Given the description of an element on the screen output the (x, y) to click on. 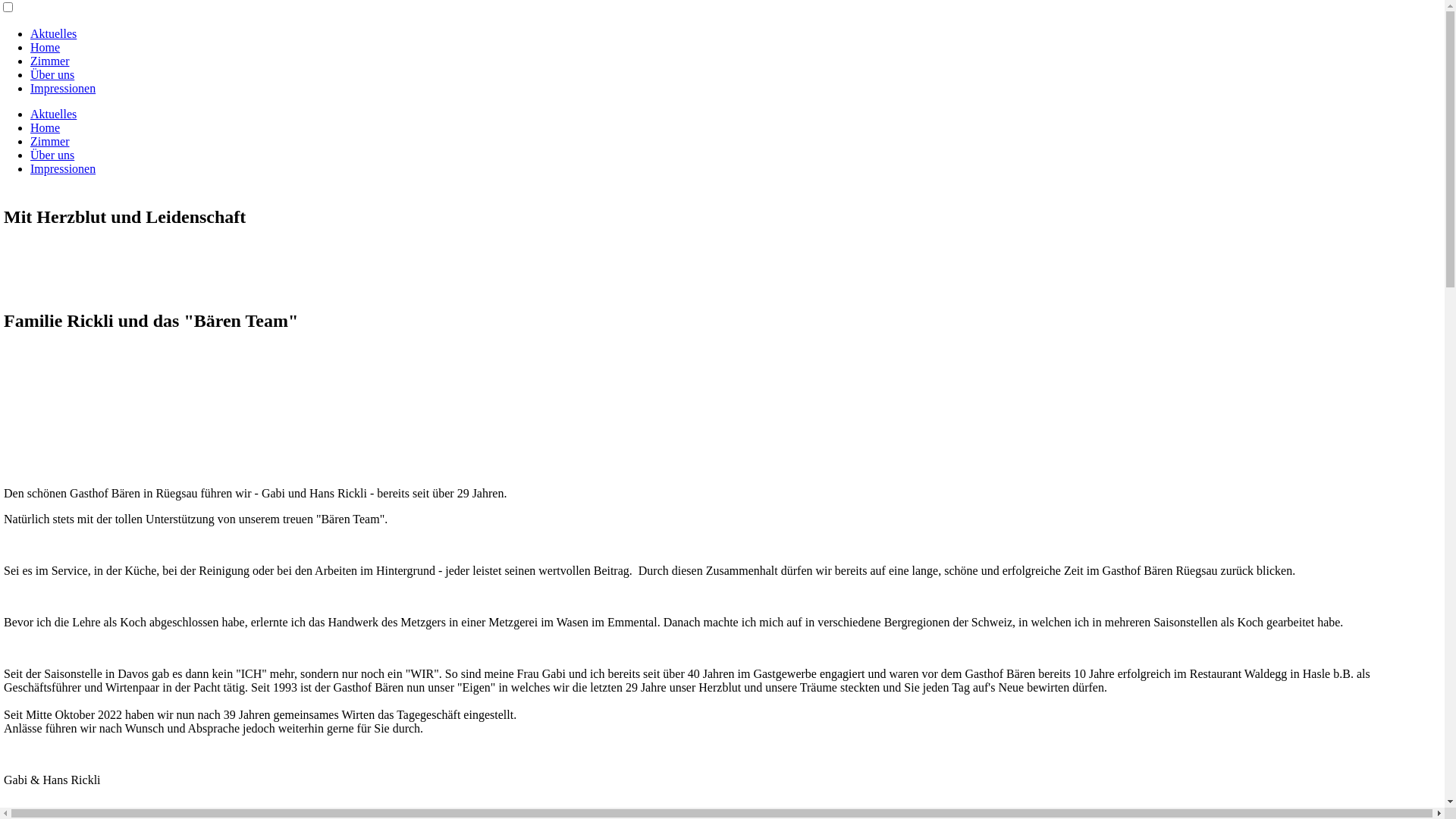
Aktuelles Element type: text (53, 33)
Zimmer Element type: text (49, 60)
Aktuelles Element type: text (53, 113)
Impressionen Element type: text (62, 168)
Zimmer Element type: text (49, 140)
Impressionen Element type: text (62, 87)
Home Element type: text (44, 127)
Home Element type: text (44, 46)
